Given the description of an element on the screen output the (x, y) to click on. 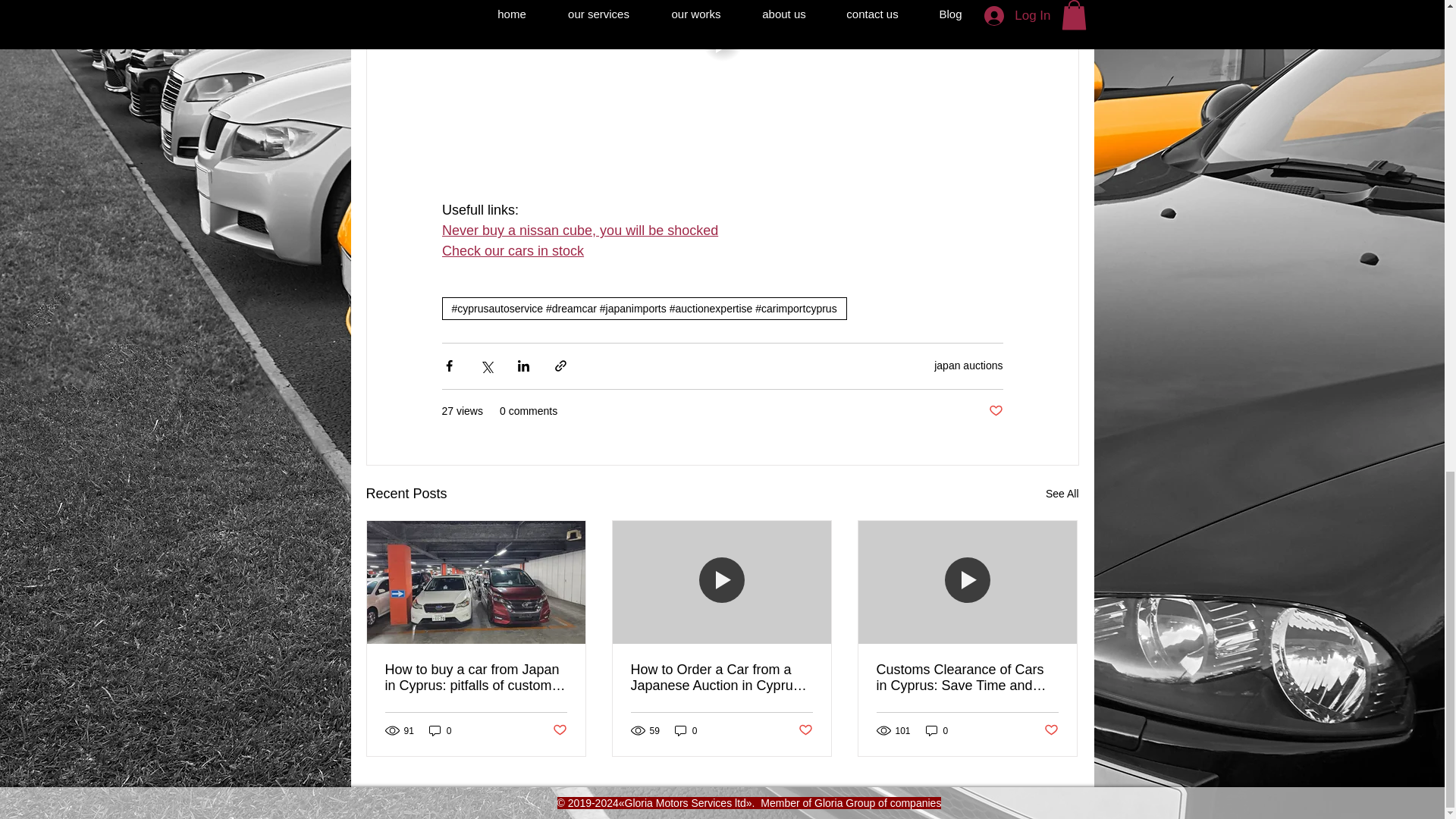
Never buy a nissan cube, you will be shocked (579, 231)
japan auctions (968, 365)
0 (685, 730)
See All (1061, 494)
Post not marked as liked (558, 730)
0 (937, 730)
0 (440, 730)
Check our cars in stock (512, 251)
Post not marked as liked (804, 730)
